Given the description of an element on the screen output the (x, y) to click on. 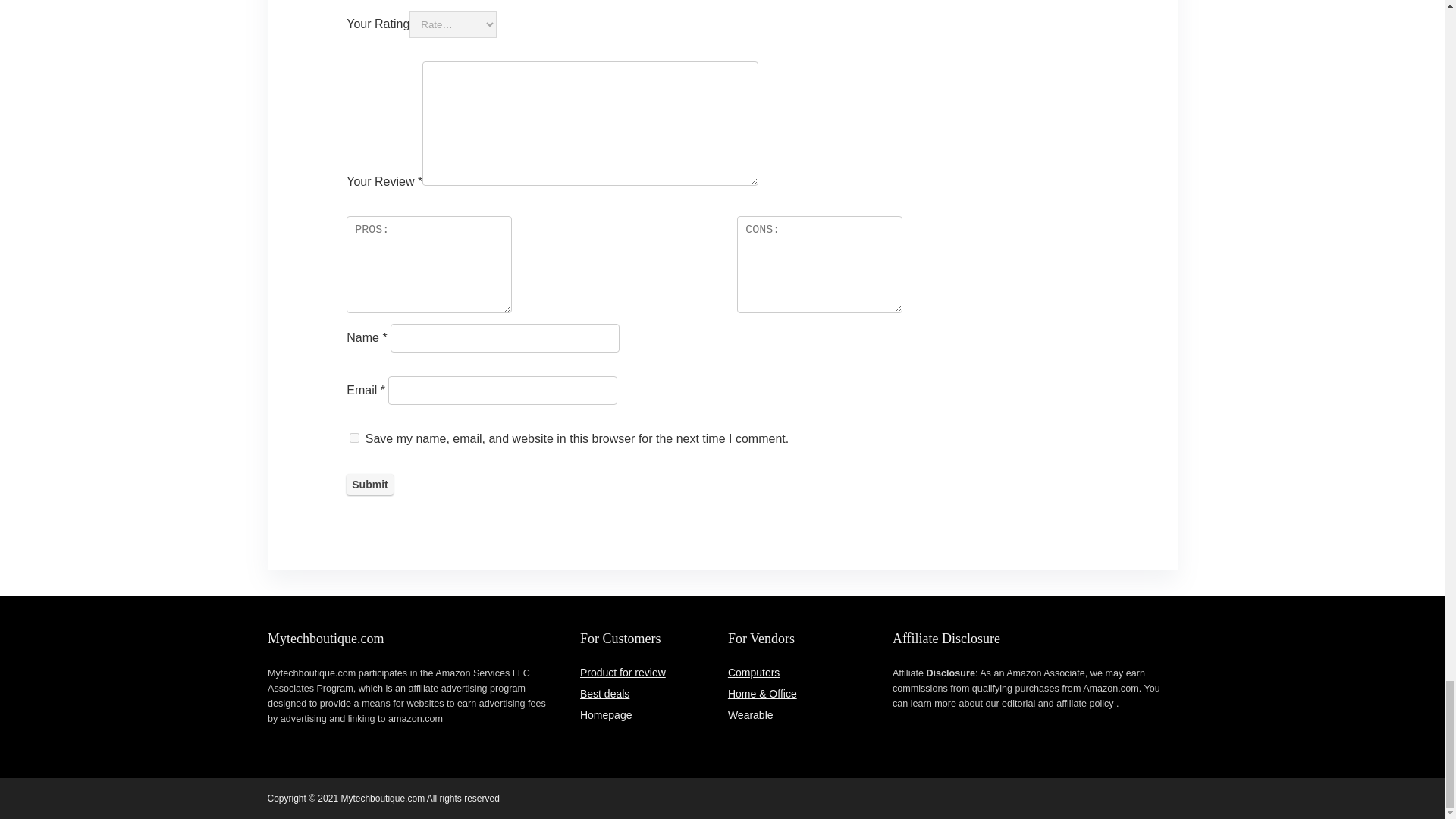
Submit (369, 484)
yes (354, 438)
